Given the description of an element on the screen output the (x, y) to click on. 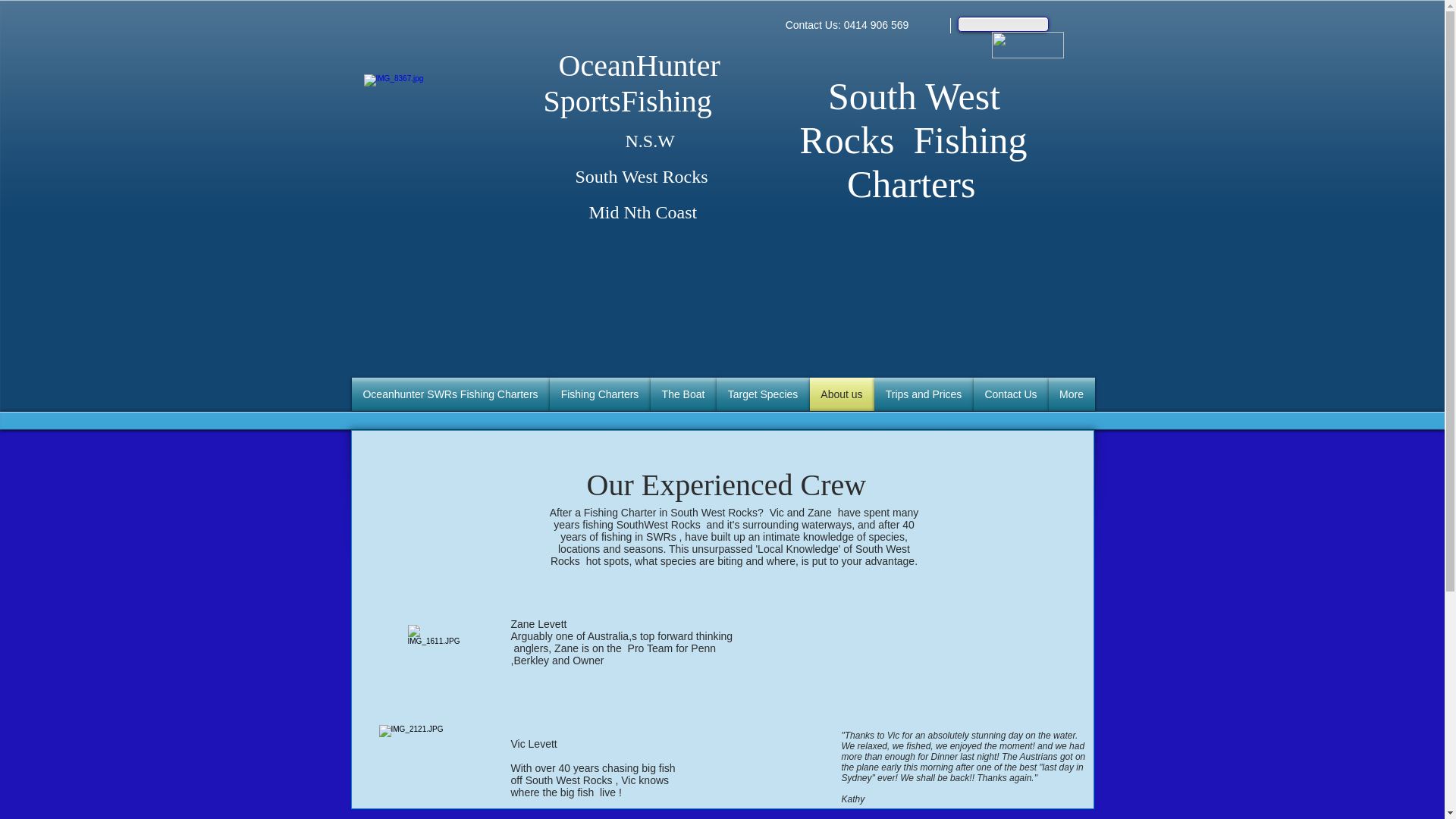
Oceanhunter SWRs Fishing Charters Element type: text (450, 394)
About us Element type: text (841, 394)
Trips and Prices Element type: text (922, 394)
Fishing Charters Element type: text (599, 394)
ocean-hunter-layout1.png Element type: hover (442, 146)
Contact Us Element type: text (1010, 394)
photo.JPG Element type: hover (437, 761)
The Boat Element type: text (683, 394)
IMG_4173.JPG Element type: hover (434, 655)
Target Species Element type: text (762, 394)
